Given the description of an element on the screen output the (x, y) to click on. 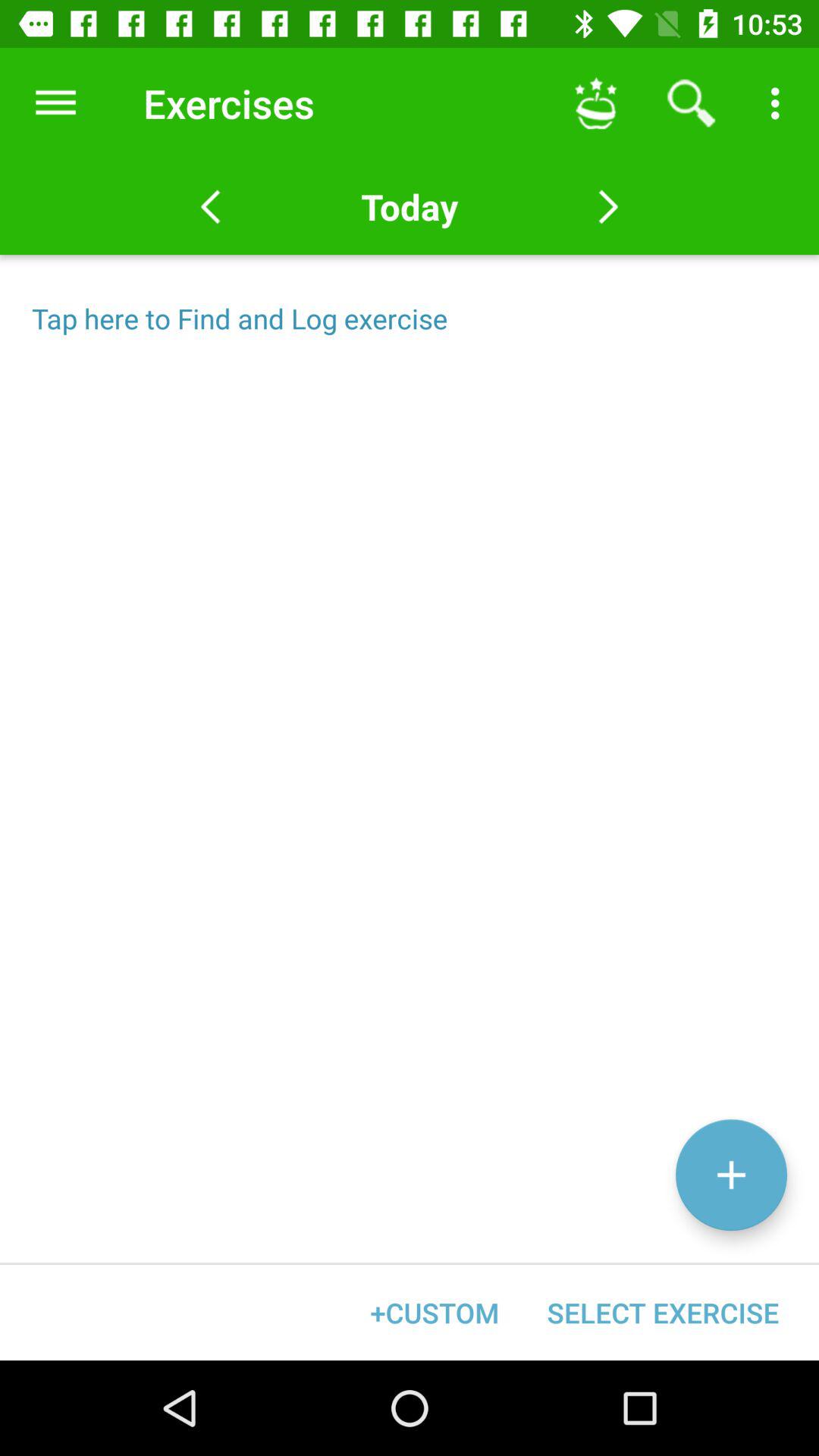
swipe to the +custom (434, 1312)
